Given the description of an element on the screen output the (x, y) to click on. 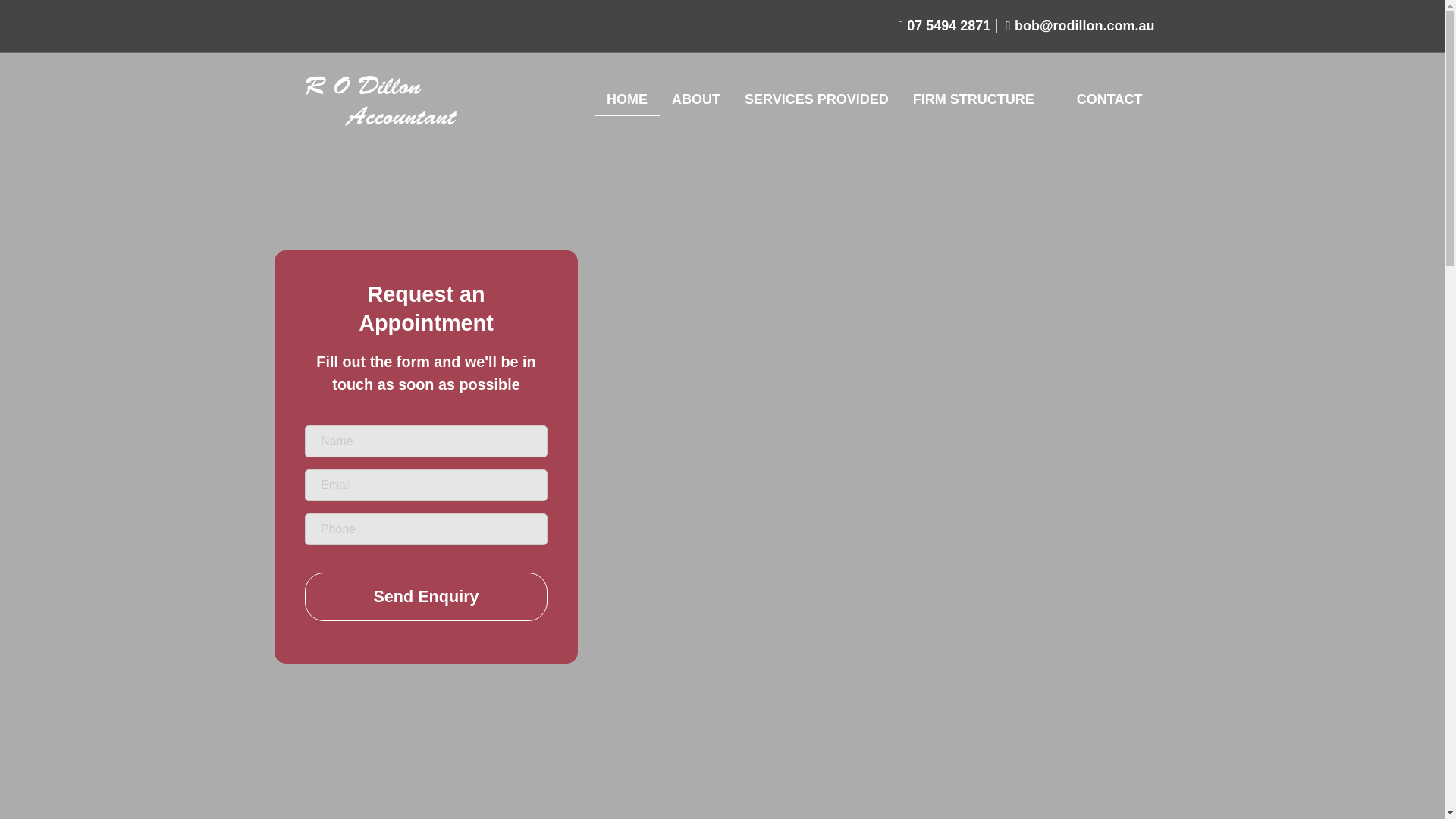
Send Enquiry (425, 596)
HOME (626, 99)
CONTACT (1109, 98)
07 5494 2871 (944, 25)
Send Enquiry (425, 596)
SERVICES PROVIDED (816, 98)
ABOUT (695, 98)
FIRM STRUCTURE (973, 98)
